Given the description of an element on the screen output the (x, y) to click on. 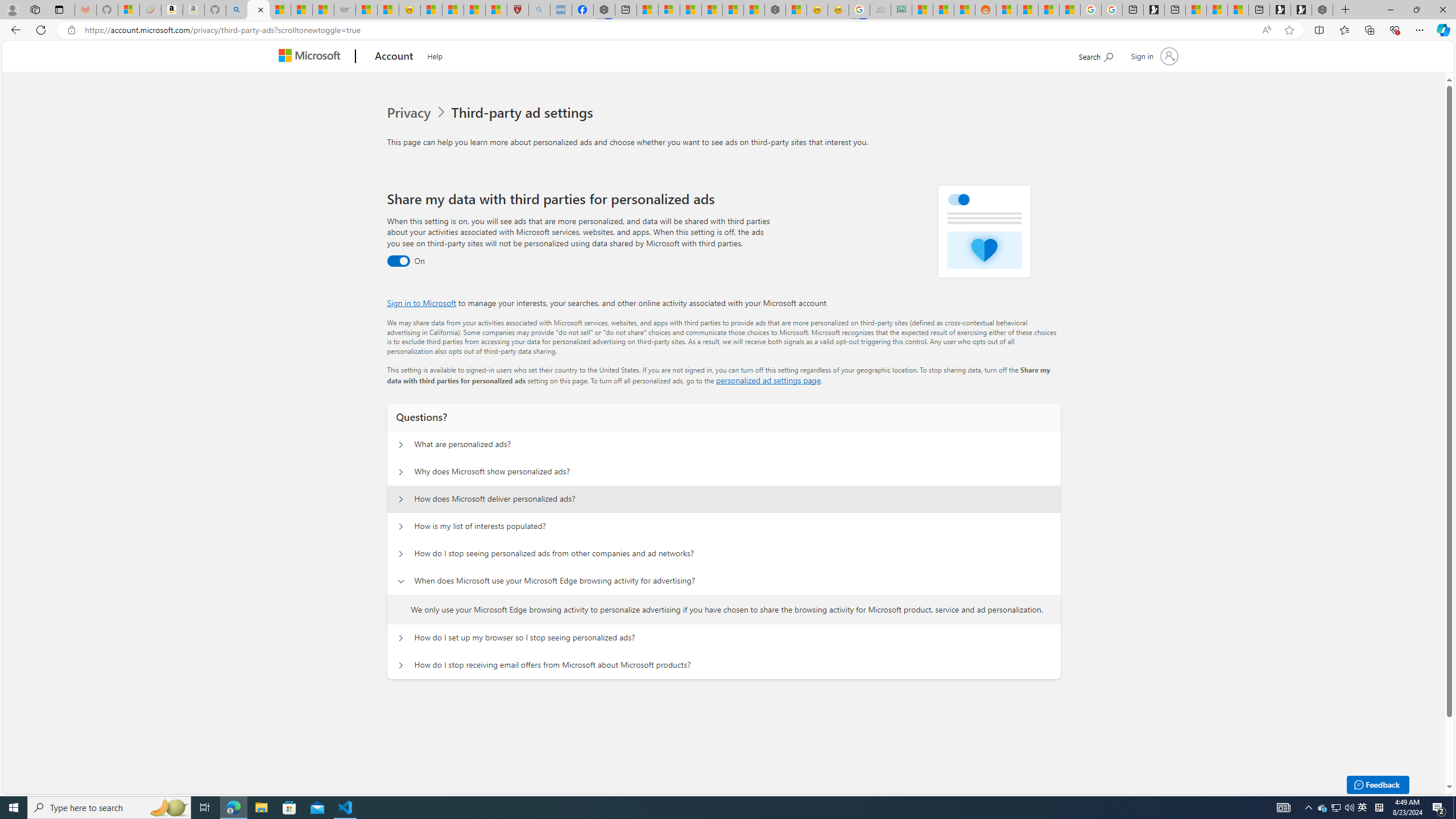
Questions? How does Microsoft deliver personalized ads? (401, 499)
Sign in to your account (1153, 55)
